Given the description of an element on the screen output the (x, y) to click on. 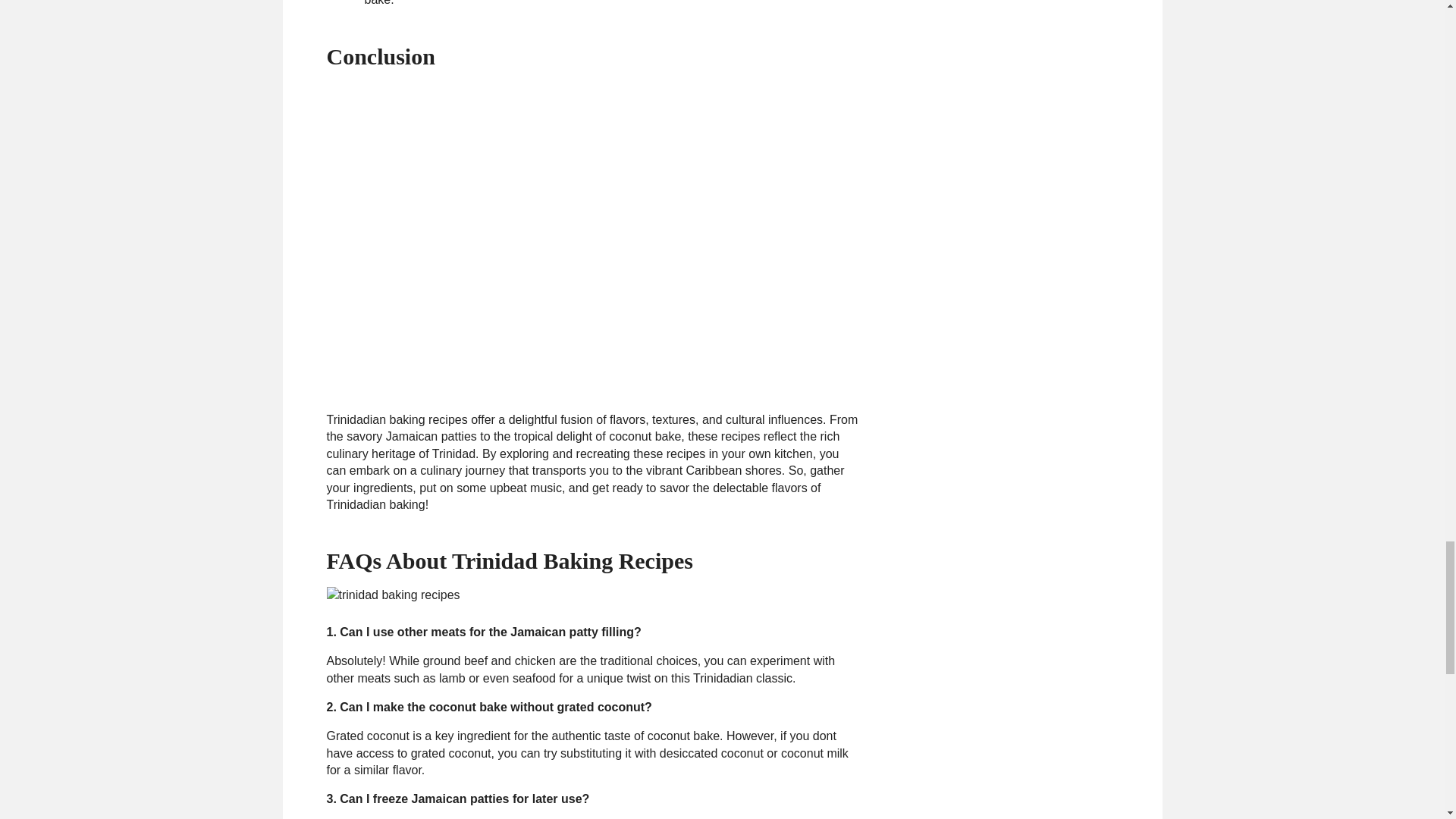
trinidad baking recipes (393, 595)
